Given the description of an element on the screen output the (x, y) to click on. 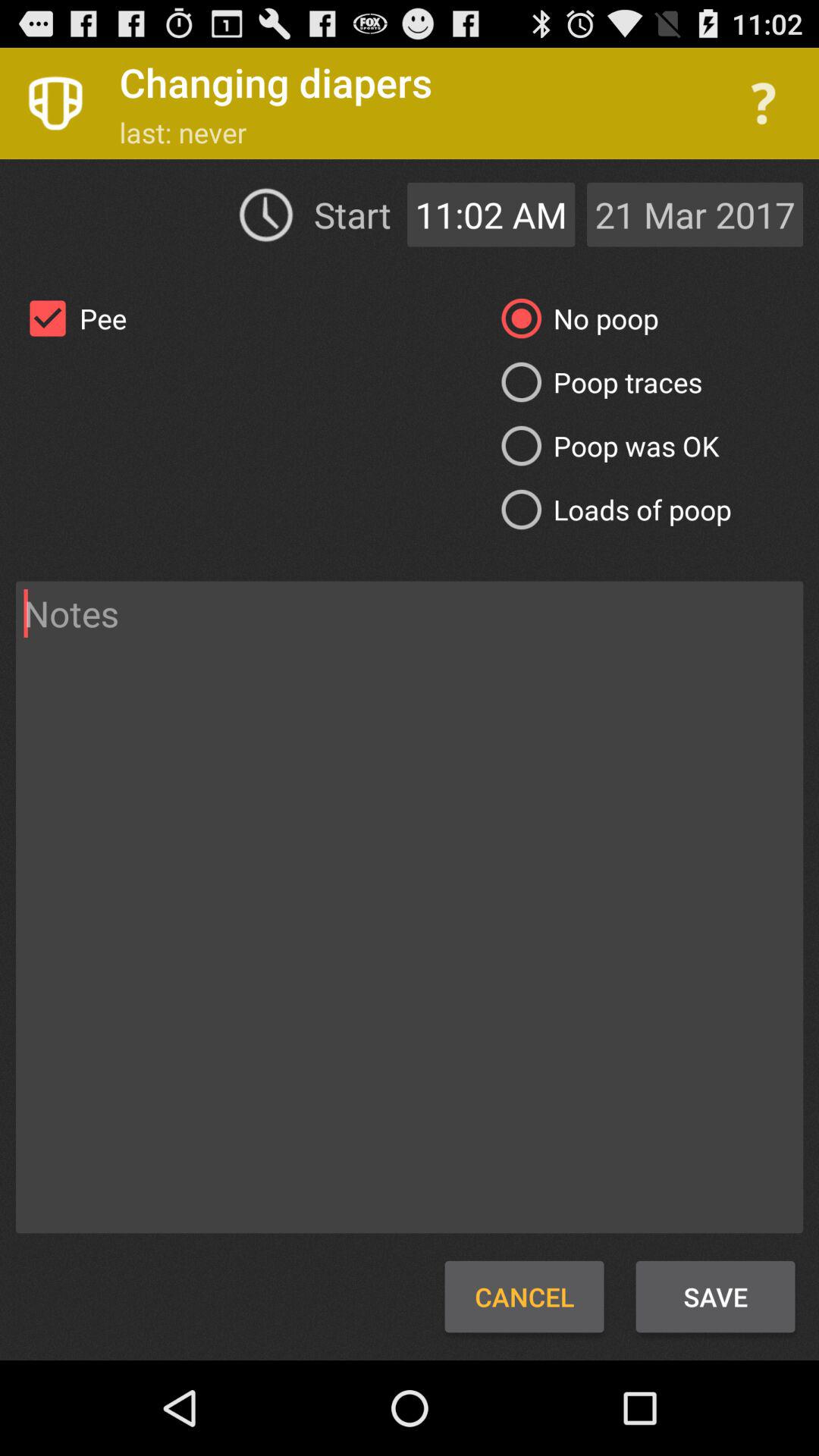
select the app next to the changing diapers (763, 103)
